Given the description of an element on the screen output the (x, y) to click on. 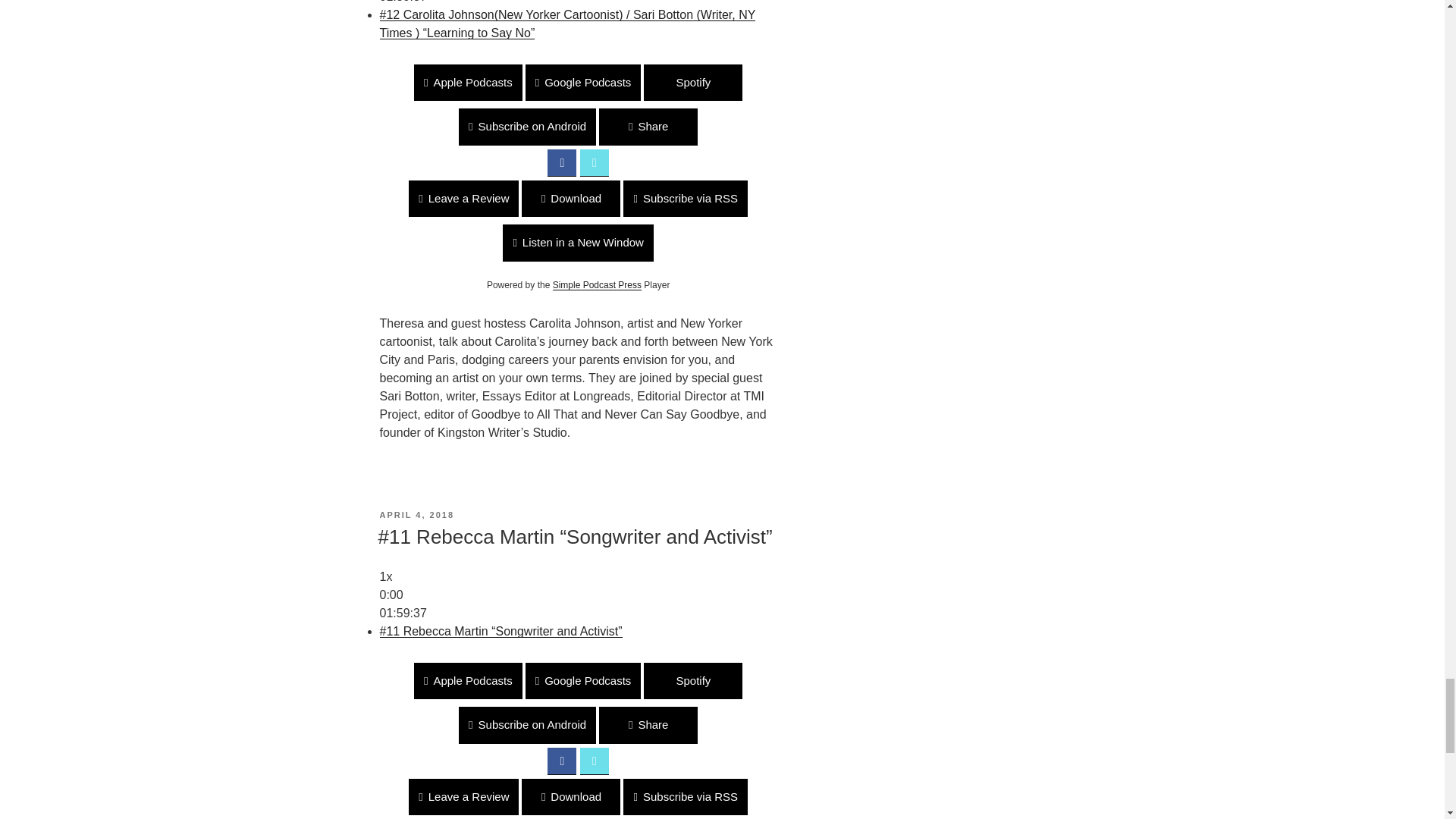
Share on Facebook (561, 162)
